Given the description of an element on the screen output the (x, y) to click on. 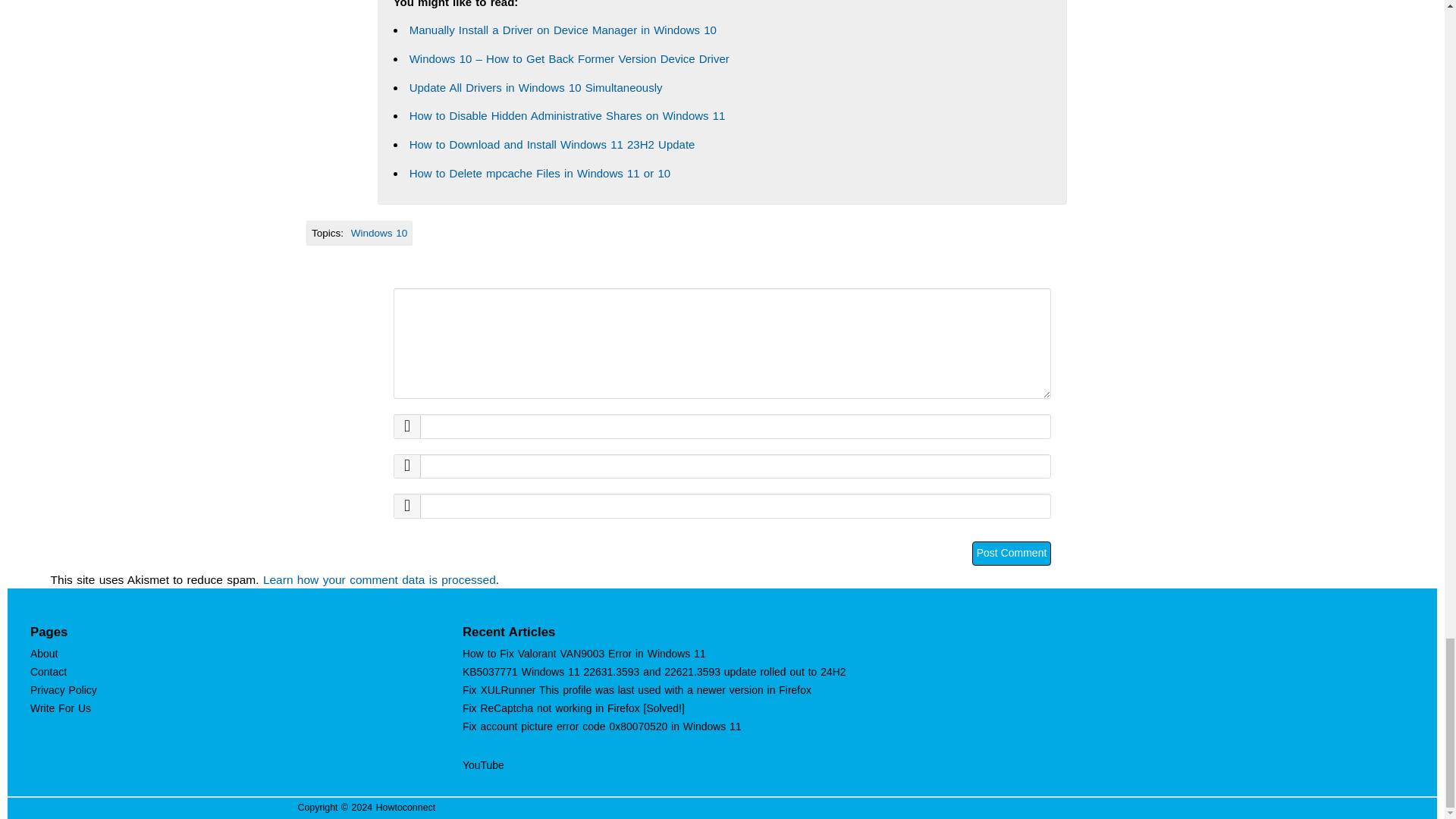
Contact (48, 671)
Post Comment (1011, 553)
YouTube (483, 765)
Update All Drivers in Windows 10 Simultaneously (535, 87)
How to Delete mpcache Files in Windows 11 or 10 (539, 173)
Learn how your comment data is processed (379, 579)
How to Fix Valorant VAN9003 Error in Windows 11 (584, 653)
Write For Us (60, 707)
About (44, 653)
